Given the description of an element on the screen output the (x, y) to click on. 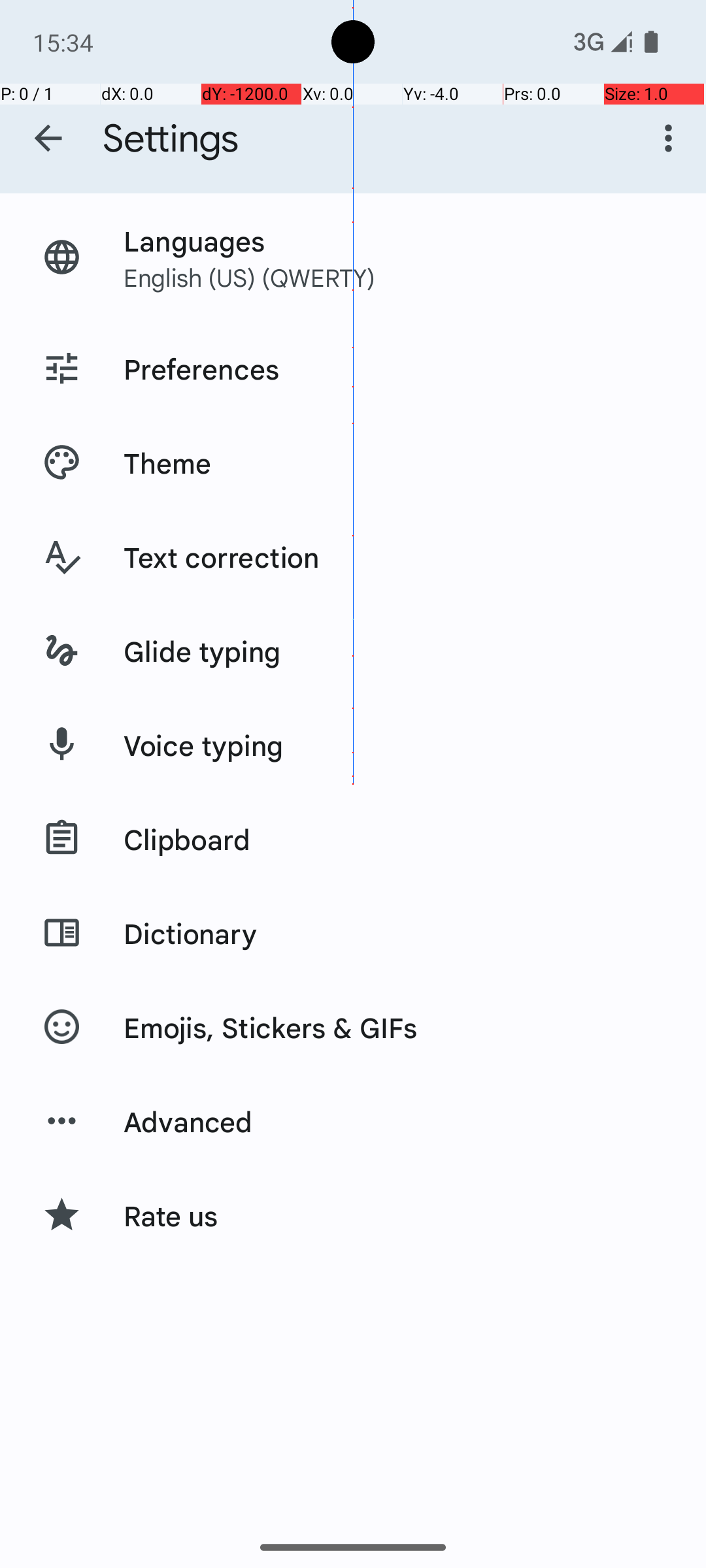
Languages Element type: android.widget.TextView (194, 240)
English (US) (QWERTY) Element type: android.widget.TextView (249, 277)
Preferences Element type: android.widget.TextView (201, 368)
Theme Element type: android.widget.TextView (167, 462)
Text correction Element type: android.widget.TextView (221, 556)
Glide typing Element type: android.widget.TextView (202, 650)
Voice typing Element type: android.widget.TextView (203, 744)
Dictionary Element type: android.widget.TextView (189, 932)
Emojis, Stickers & GIFs Element type: android.widget.TextView (270, 1026)
Advanced Element type: android.widget.TextView (187, 1120)
Rate us Element type: android.widget.TextView (170, 1214)
